Given the description of an element on the screen output the (x, y) to click on. 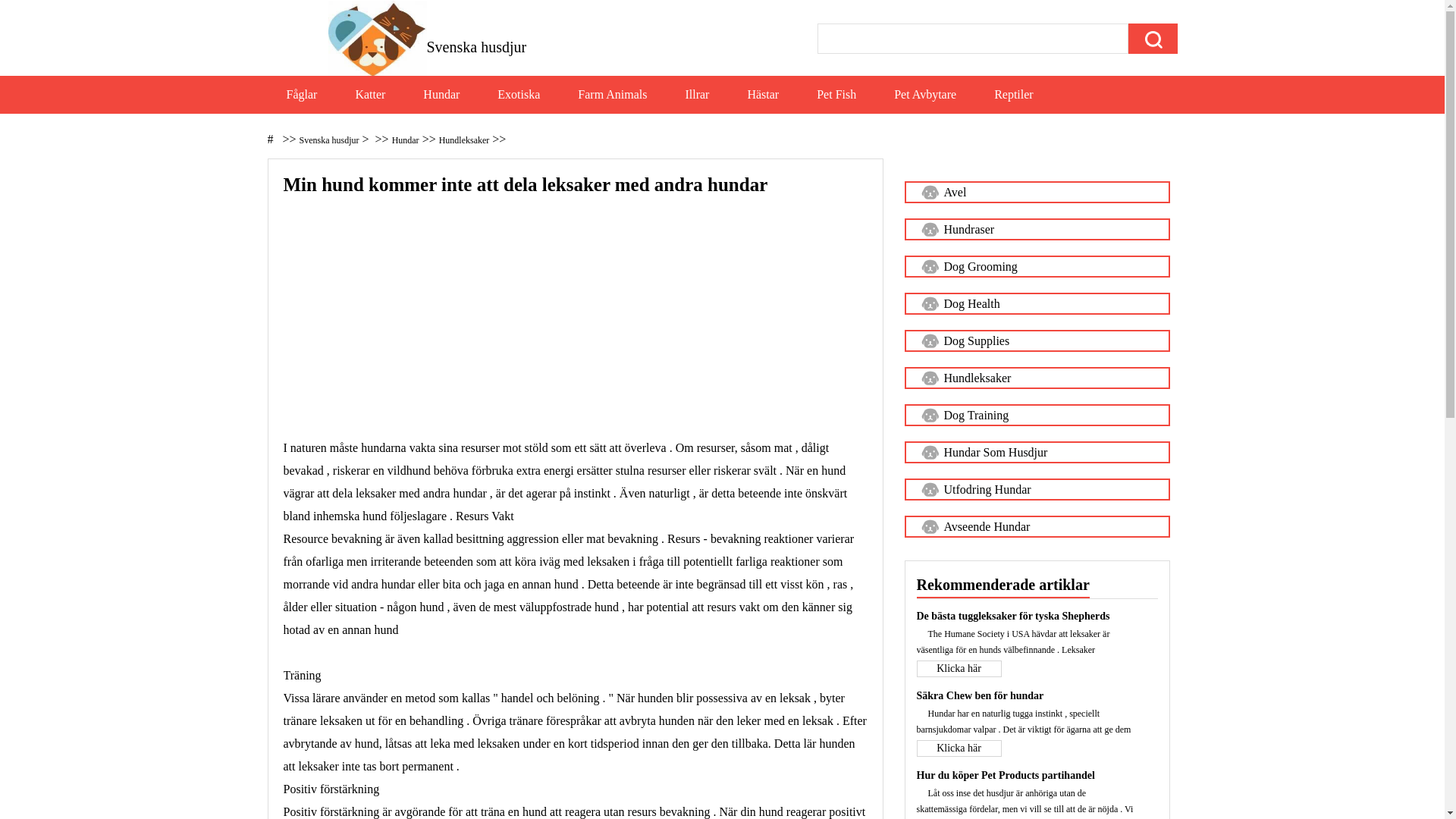
Dog Training Element type: text (1036, 415)
Pet Avbytare Element type: text (925, 94)
Katter Element type: text (369, 94)
Hundleksaker Element type: text (464, 139)
Hundar Som Husdjur Element type: text (1036, 452)
Hundar Element type: text (441, 94)
Pet Fish Element type: text (836, 94)
Advertisement Element type: hover (575, 330)
Reptiler Element type: text (1013, 94)
Utfodring Hundar Element type: text (1036, 489)
Dog Health Element type: text (1036, 303)
Hundraser Element type: text (1036, 229)
Avel Element type: text (1036, 192)
Exotiska Element type: text (518, 94)
Svenska husdjur Element type: text (329, 139)
Illrar Element type: text (696, 94)
Hundar Element type: text (405, 139)
Dog Grooming Element type: text (1036, 266)
Dog Supplies Element type: text (1036, 340)
Hundleksaker Element type: text (1036, 378)
Avseende Hundar Element type: text (1036, 526)
Farm Animals Element type: text (611, 94)
